Given the description of an element on the screen output the (x, y) to click on. 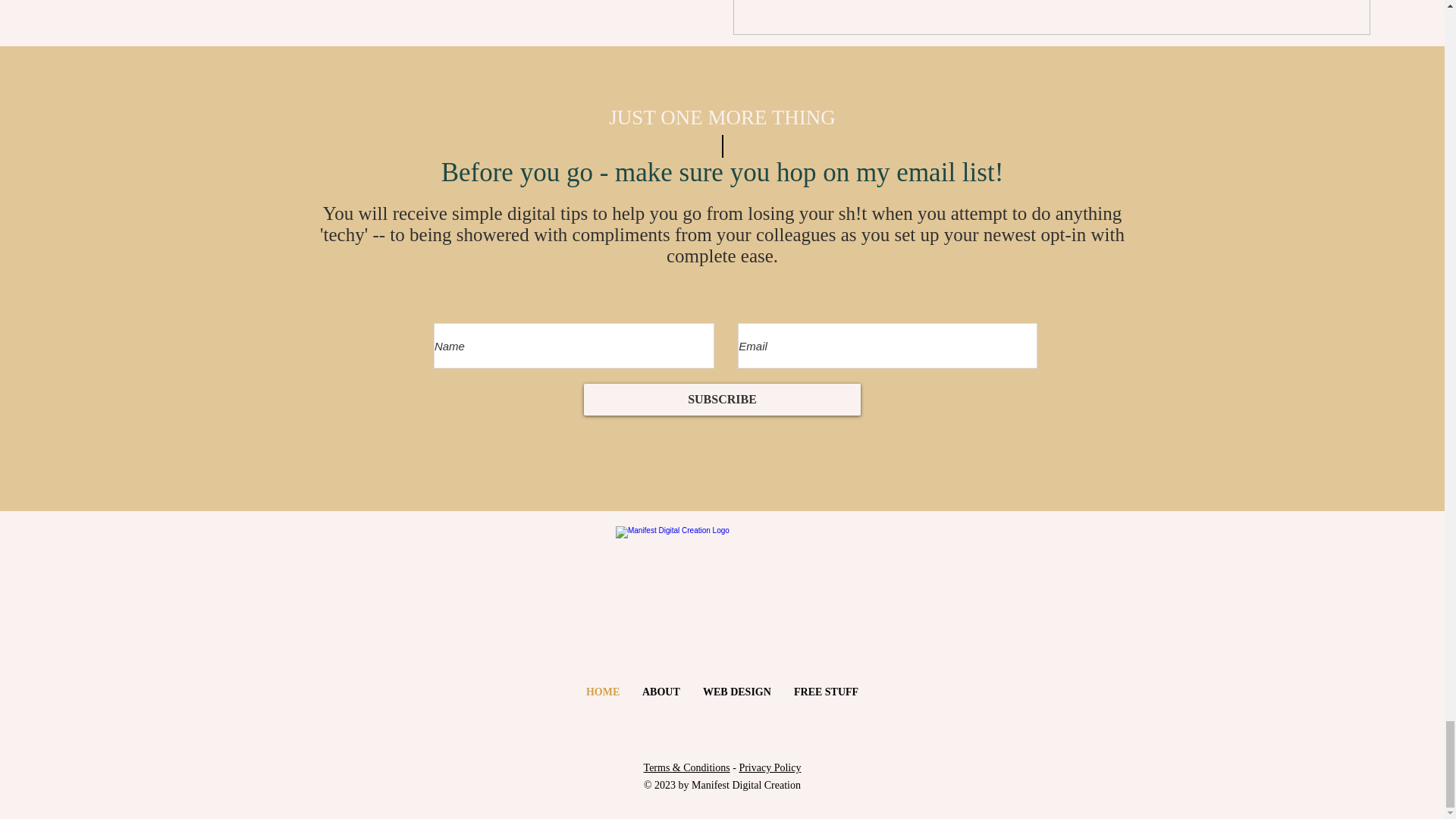
SUBSCRIBE (721, 399)
HOME (602, 691)
